Given the description of an element on the screen output the (x, y) to click on. 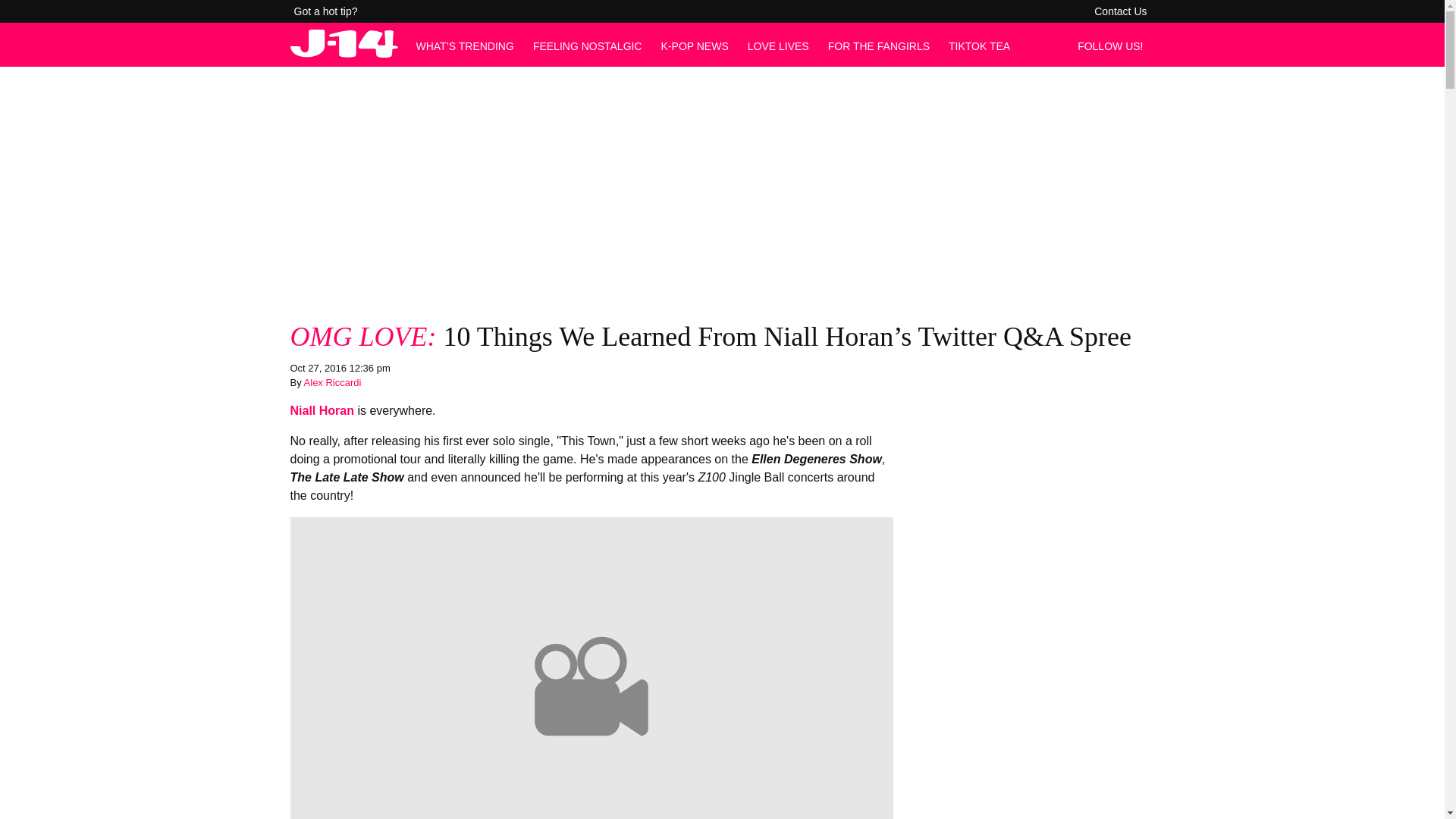
Alex Riccardi (332, 382)
Got a hot tip? (325, 11)
LOVE LIVES (778, 46)
Contact Us (1120, 11)
Posts by Alex Riccardi (332, 382)
Niall Horan (321, 410)
FEELING NOSTALGIC (587, 46)
Home (343, 52)
TIKTOK TEA (979, 46)
FOLLOW US! (1114, 45)
